Given the description of an element on the screen output the (x, y) to click on. 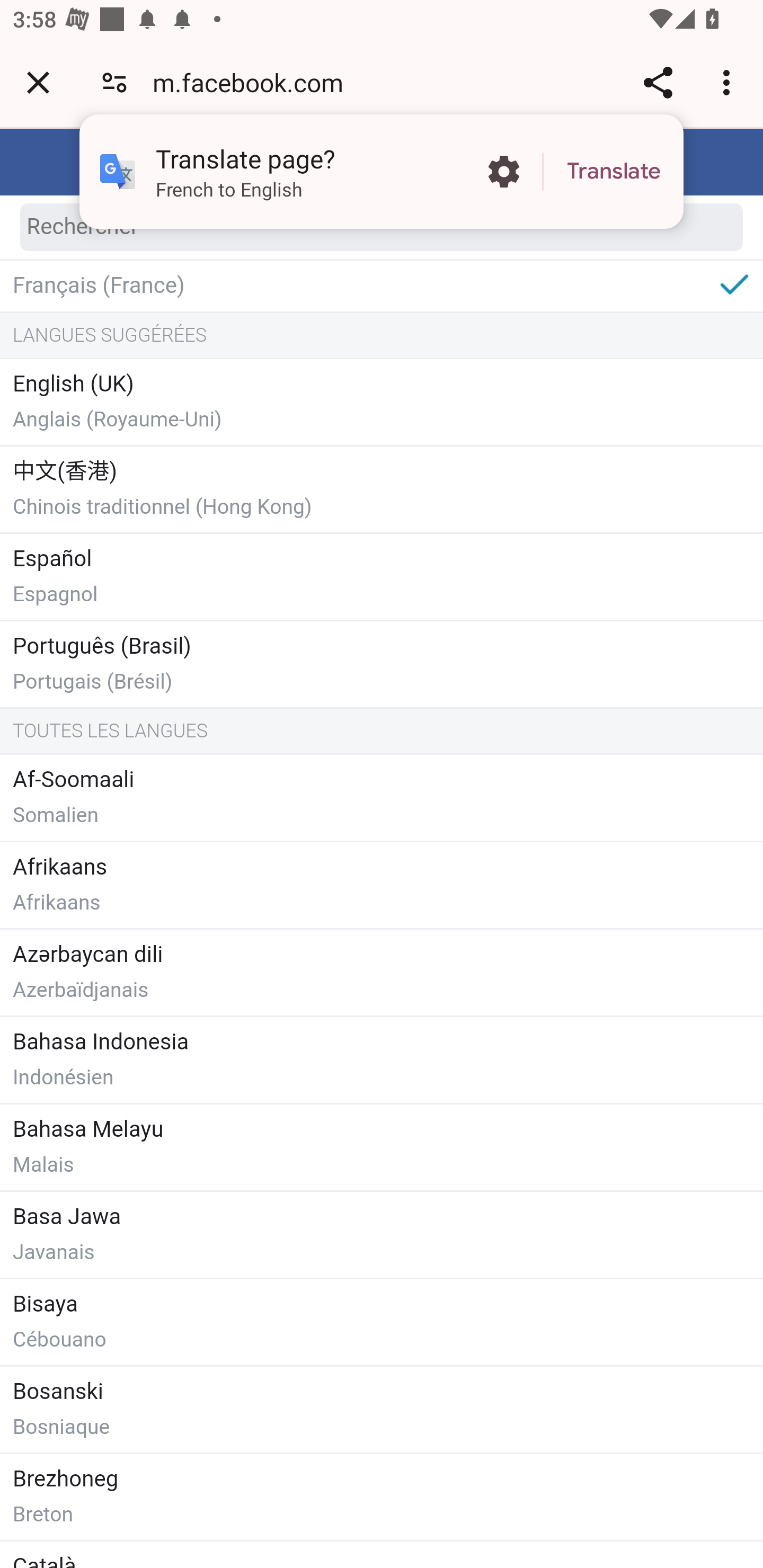
Close tab (38, 82)
Share (657, 82)
Customize and control Google Chrome (729, 82)
Connection is secure (114, 81)
m.facebook.com (254, 81)
Translate (613, 171)
More options in the Translate page? (503, 171)
